Given the description of an element on the screen output the (x, y) to click on. 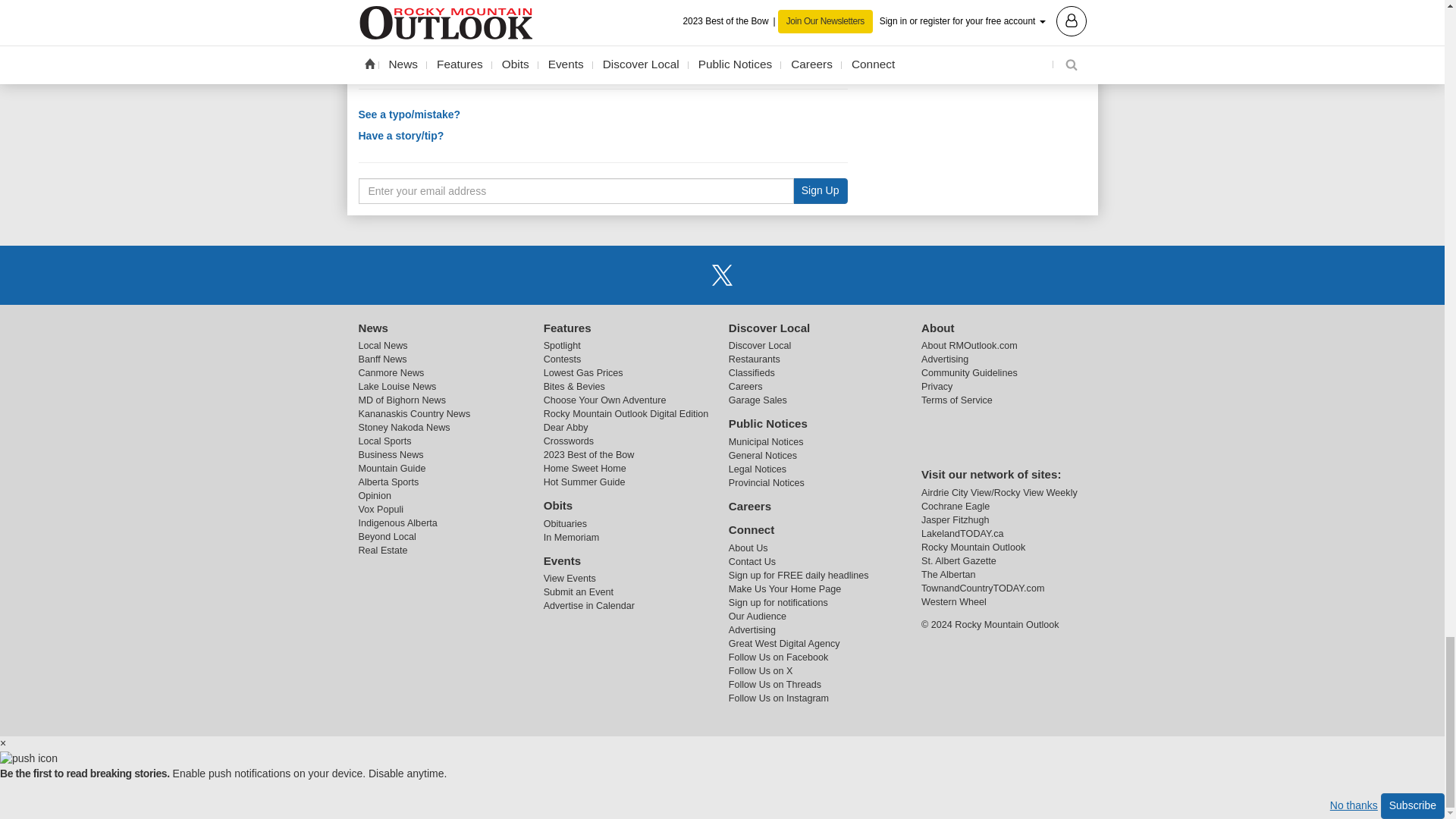
Instagram (760, 274)
X (721, 274)
Facebook (683, 274)
